Given the description of an element on the screen output the (x, y) to click on. 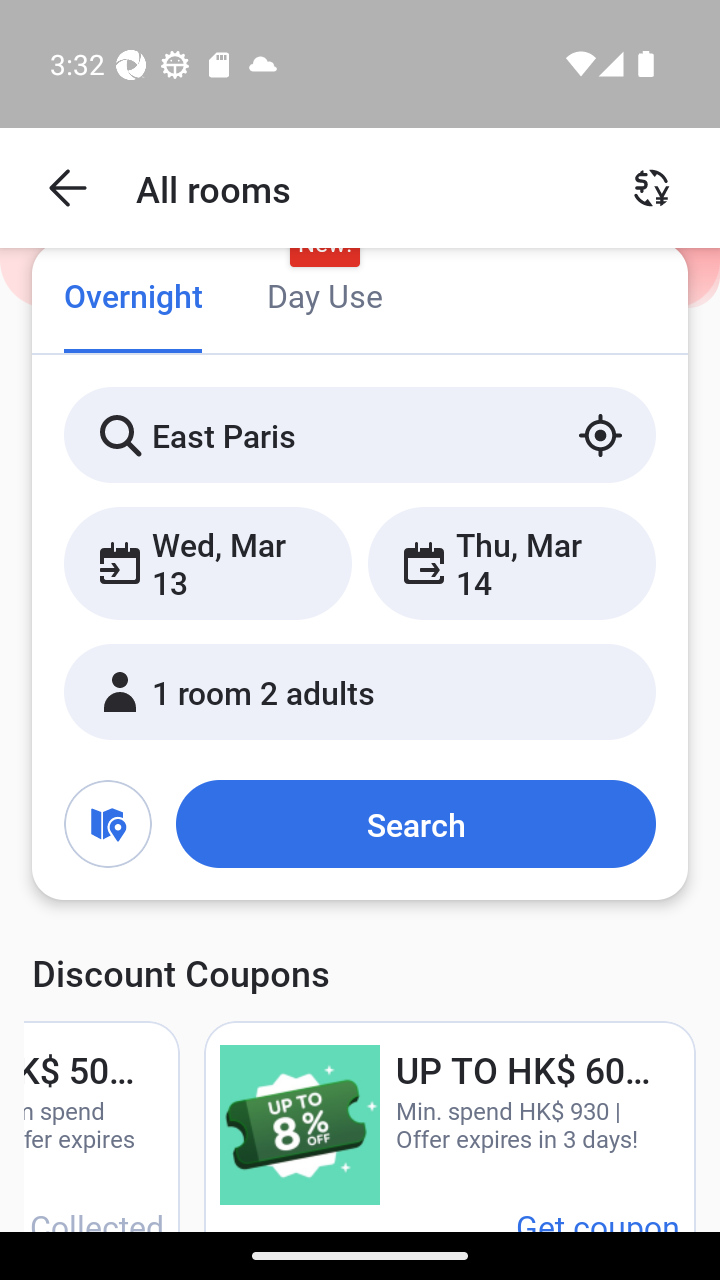
Day Use (324, 298)
East Paris (359, 434)
Wed, Mar 13 (208, 562)
Thu, Mar 14 (511, 562)
1 room 2 adults (359, 691)
Search (415, 823)
